Given the description of an element on the screen output the (x, y) to click on. 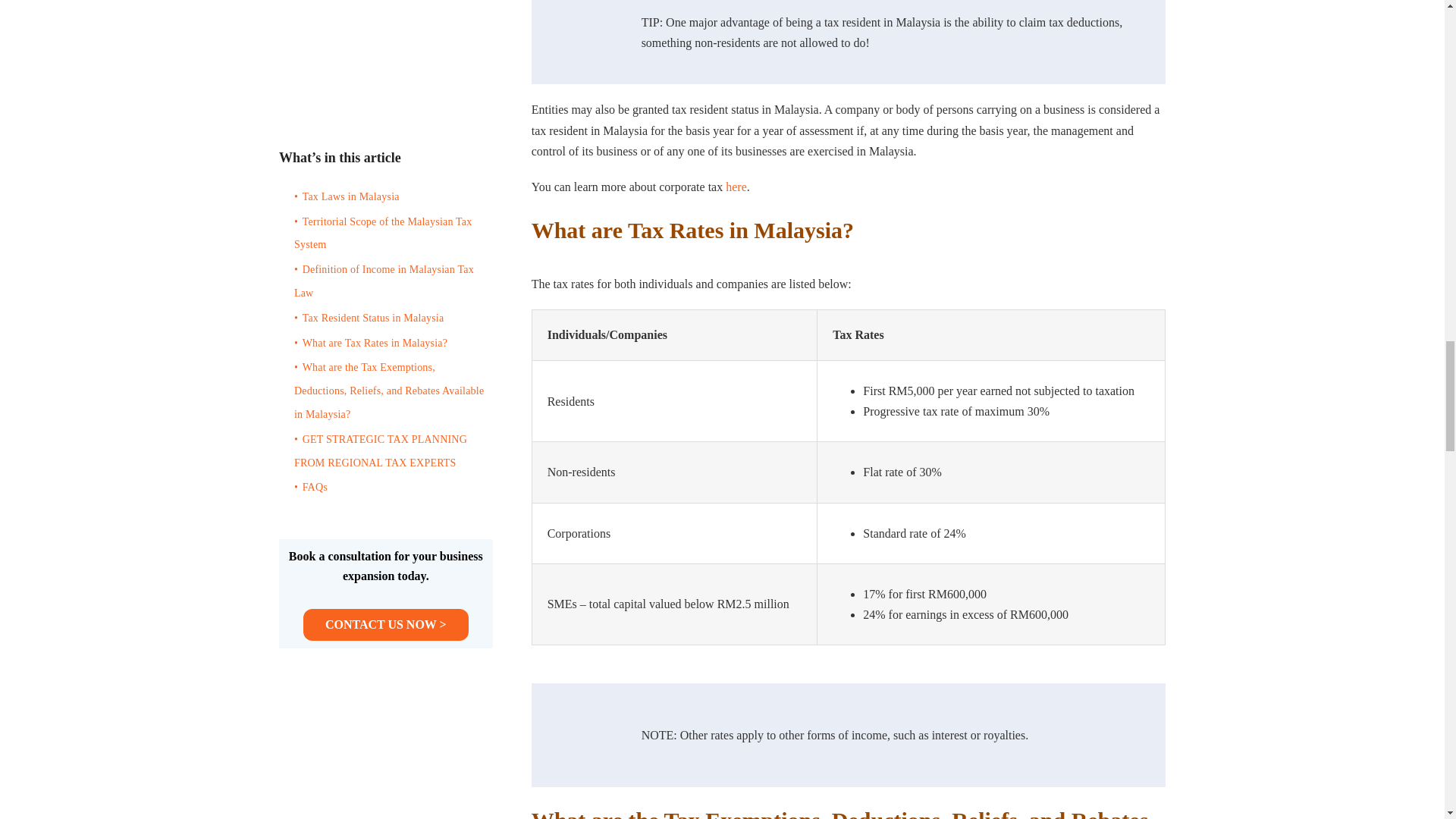
Malaysia Corporate Secretary Ramu (582, 734)
Malaysia Corporate Secretary Ramu (582, 33)
here (735, 186)
